Given the description of an element on the screen output the (x, y) to click on. 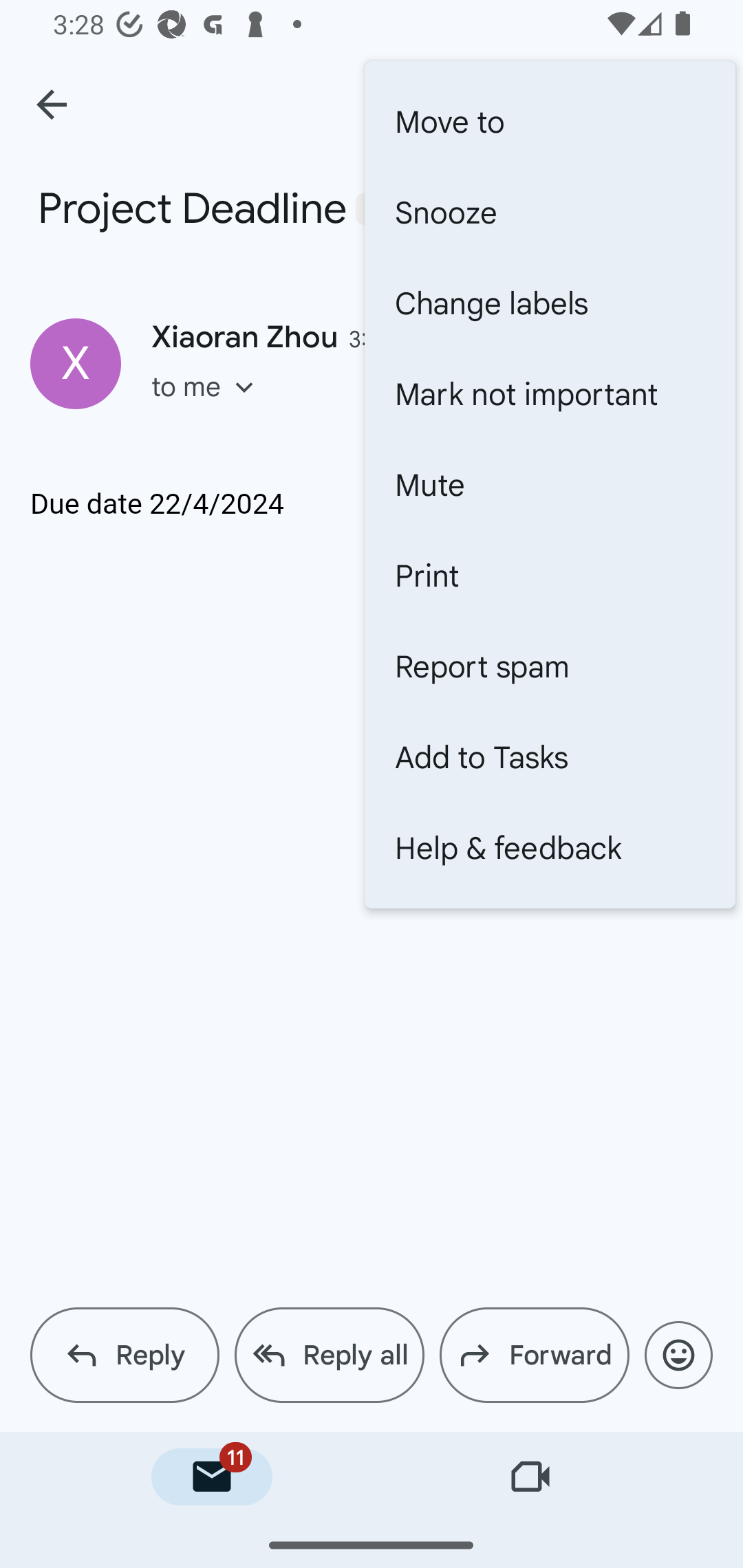
Move to (549, 121)
Snooze (549, 212)
Change labels (549, 302)
Mark not important (549, 393)
Mute (549, 484)
Print (549, 574)
Report spam (549, 665)
Add to Tasks (549, 756)
Help & feedback (549, 847)
